Given the description of an element on the screen output the (x, y) to click on. 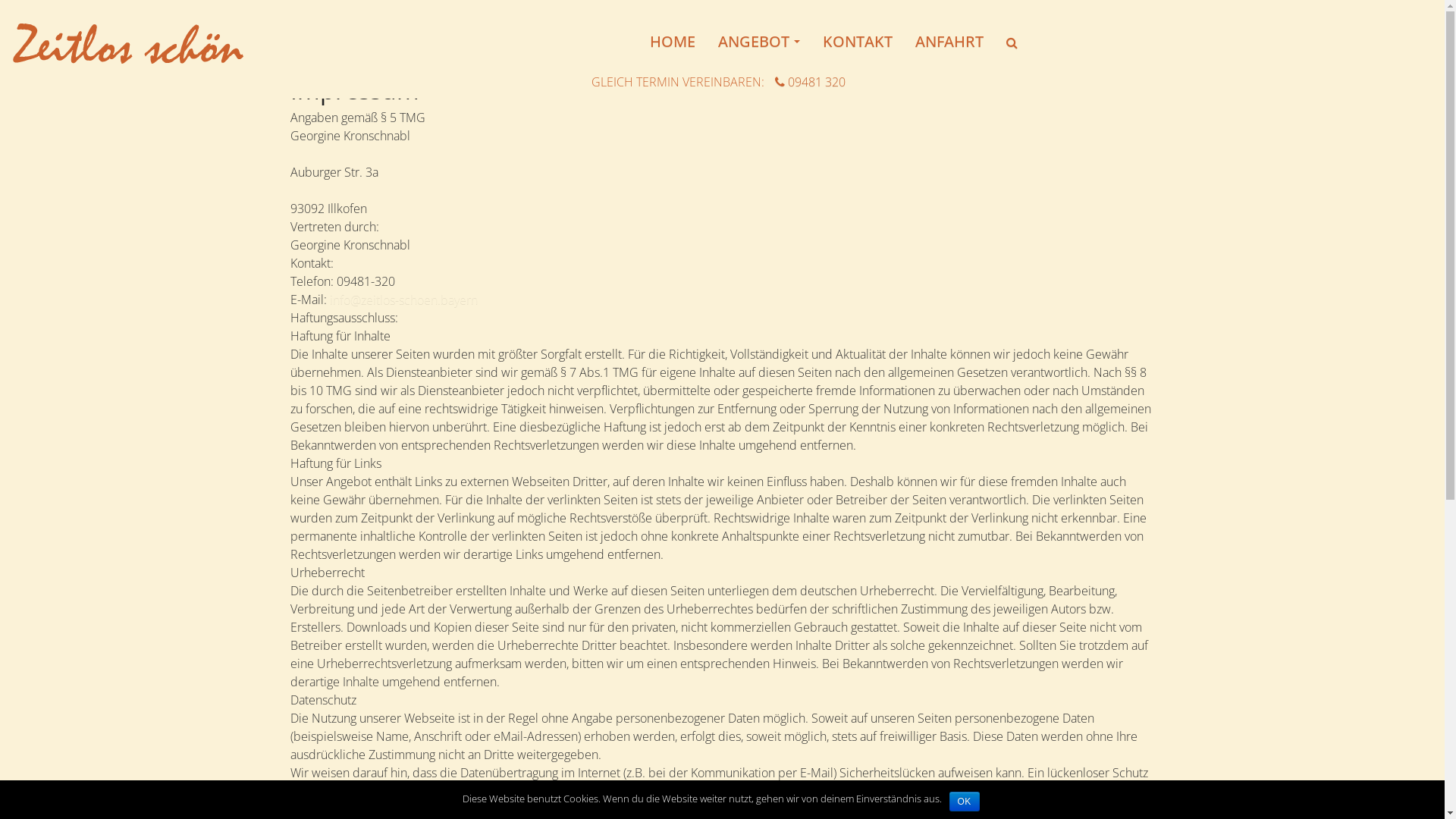
info@zeitlos-schoen.bayern Element type: text (402, 299)
ANFAHRT Element type: text (948, 41)
ANGEBOT... Element type: text (758, 41)
HOME Element type: text (672, 41)
OK Element type: text (964, 801)
Skip to content Element type: text (0, 0)
09481 320 Element type: text (810, 81)
KONTAKT Element type: text (857, 41)
